Given the description of an element on the screen output the (x, y) to click on. 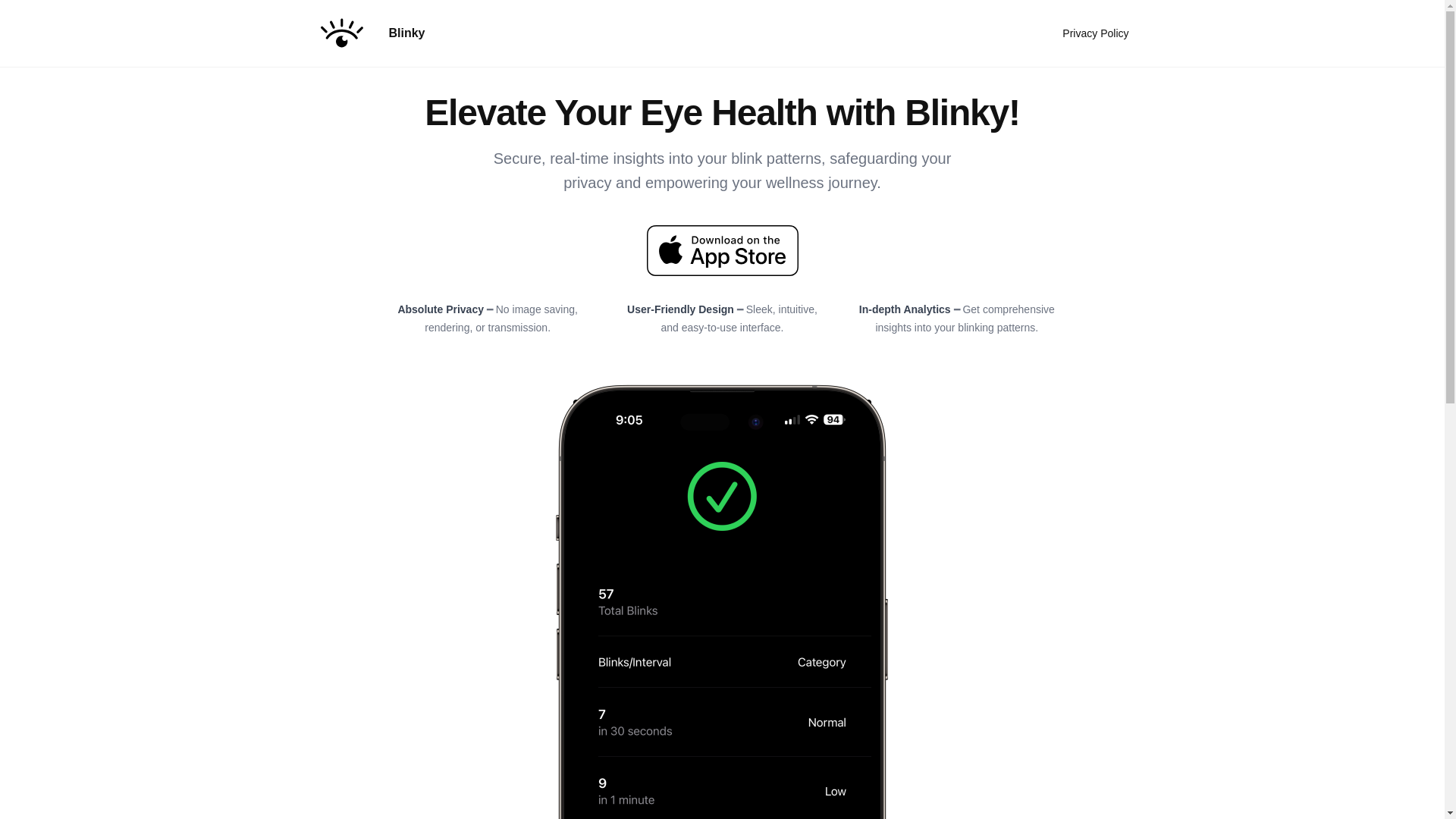
Privacy Policy (1094, 33)
Blinky (375, 33)
